Given the description of an element on the screen output the (x, y) to click on. 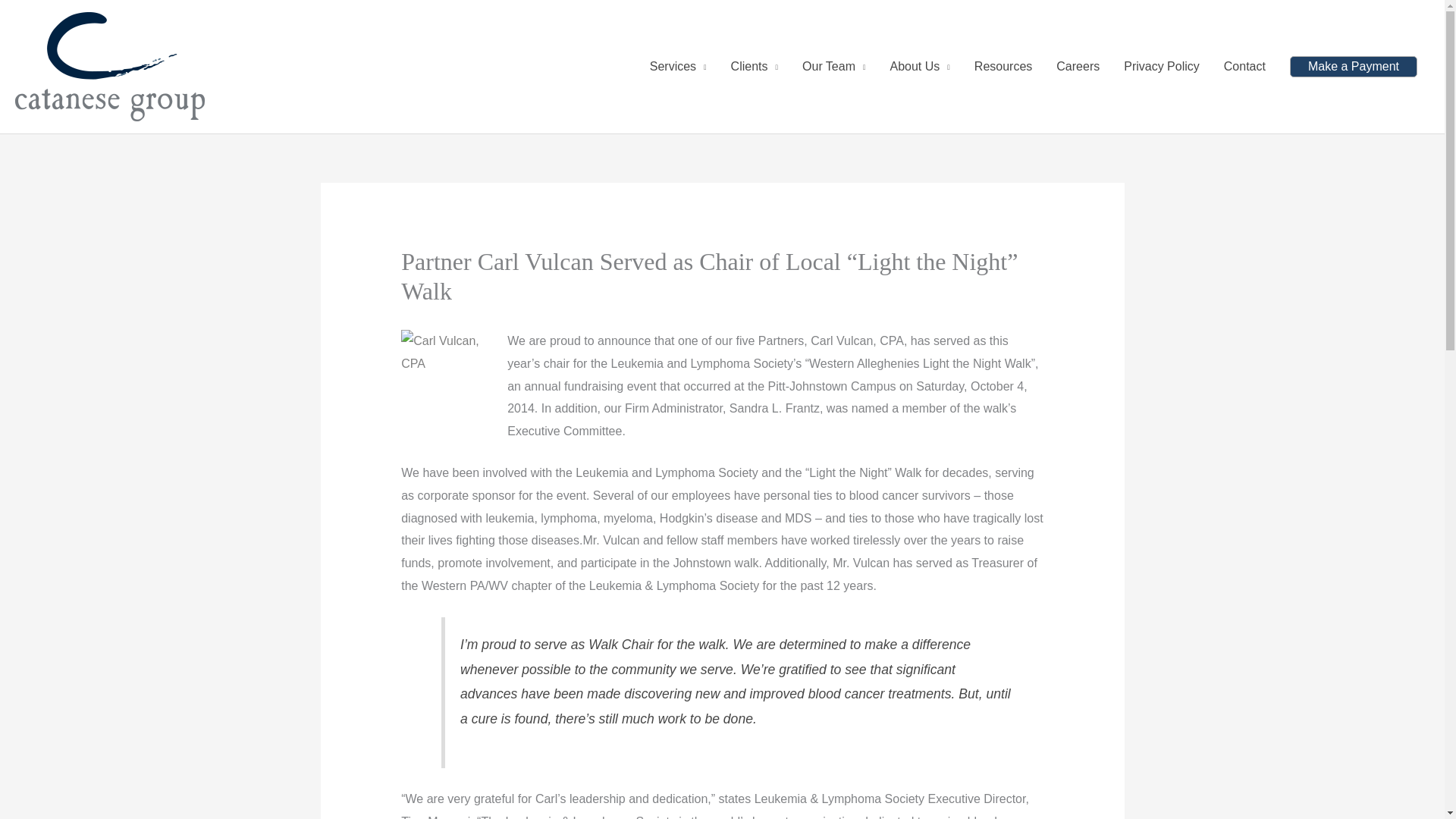
Make a Payment (1353, 66)
Our Team (833, 66)
About Us (919, 66)
Careers (1077, 66)
Resources (1002, 66)
Services (678, 66)
Privacy Policy (1161, 66)
Clients (754, 66)
Contact (1244, 66)
